Given the description of an element on the screen output the (x, y) to click on. 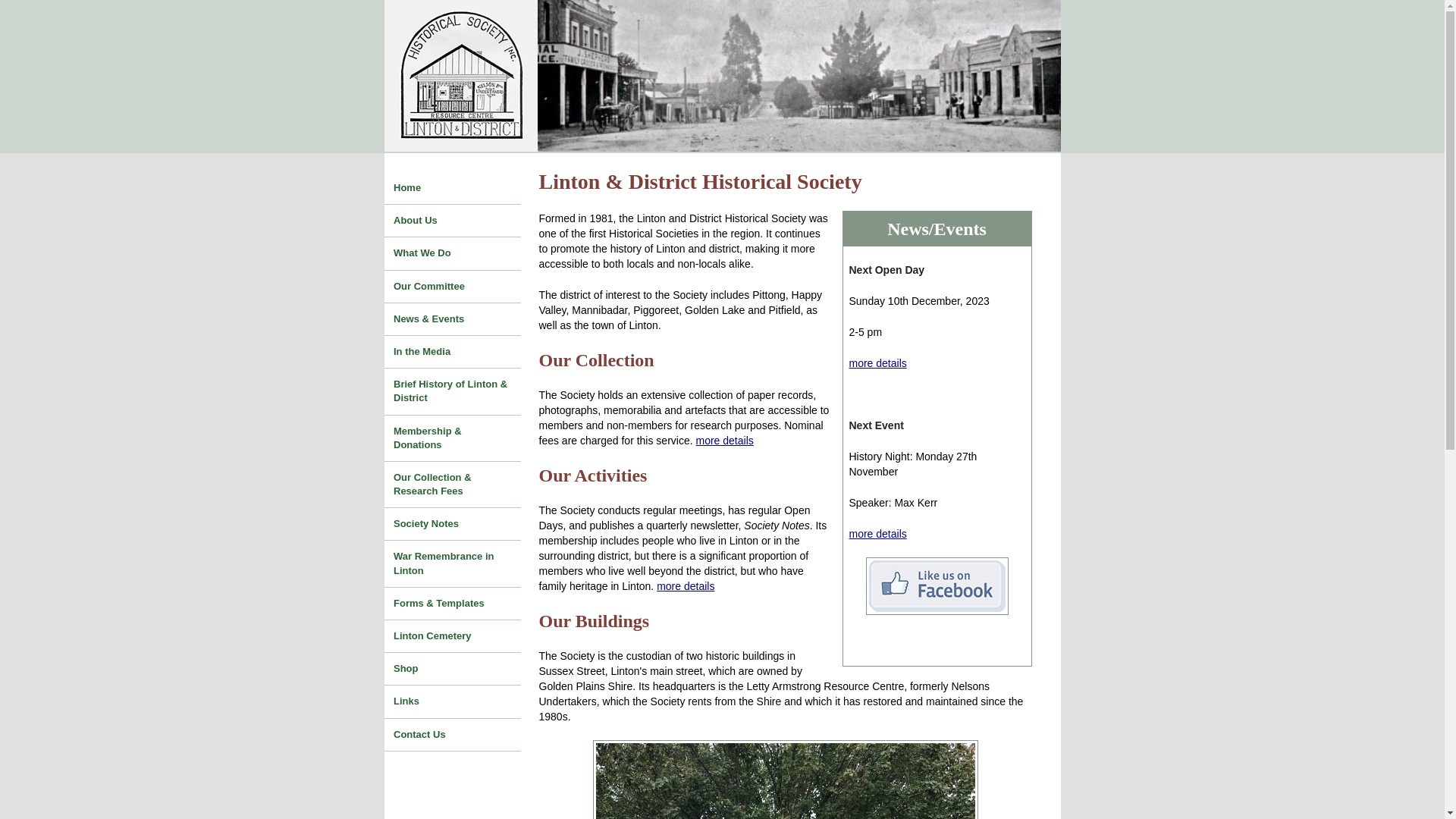
Society Notes Element type: text (451, 523)
Our Collection & Research Fees Element type: text (451, 484)
About Us Element type: text (451, 220)
Our Committee Element type: text (451, 286)
more details Element type: text (724, 440)
more details Element type: text (877, 363)
Linton Cemetery Element type: text (451, 636)
Contact Us Element type: text (451, 734)
more details Element type: text (685, 586)
What We Do Element type: text (451, 253)
War Remembrance in Linton Element type: text (451, 563)
Shop Element type: text (451, 668)
Links Element type: text (451, 701)
Brief History of Linton & District Element type: text (451, 391)
News & Events Element type: text (451, 319)
Home Element type: text (451, 187)
Membership & Donations Element type: text (451, 438)
more details Element type: text (877, 533)
Forms & Templates Element type: text (451, 603)
In the Media Element type: text (451, 351)
